Given the description of an element on the screen output the (x, y) to click on. 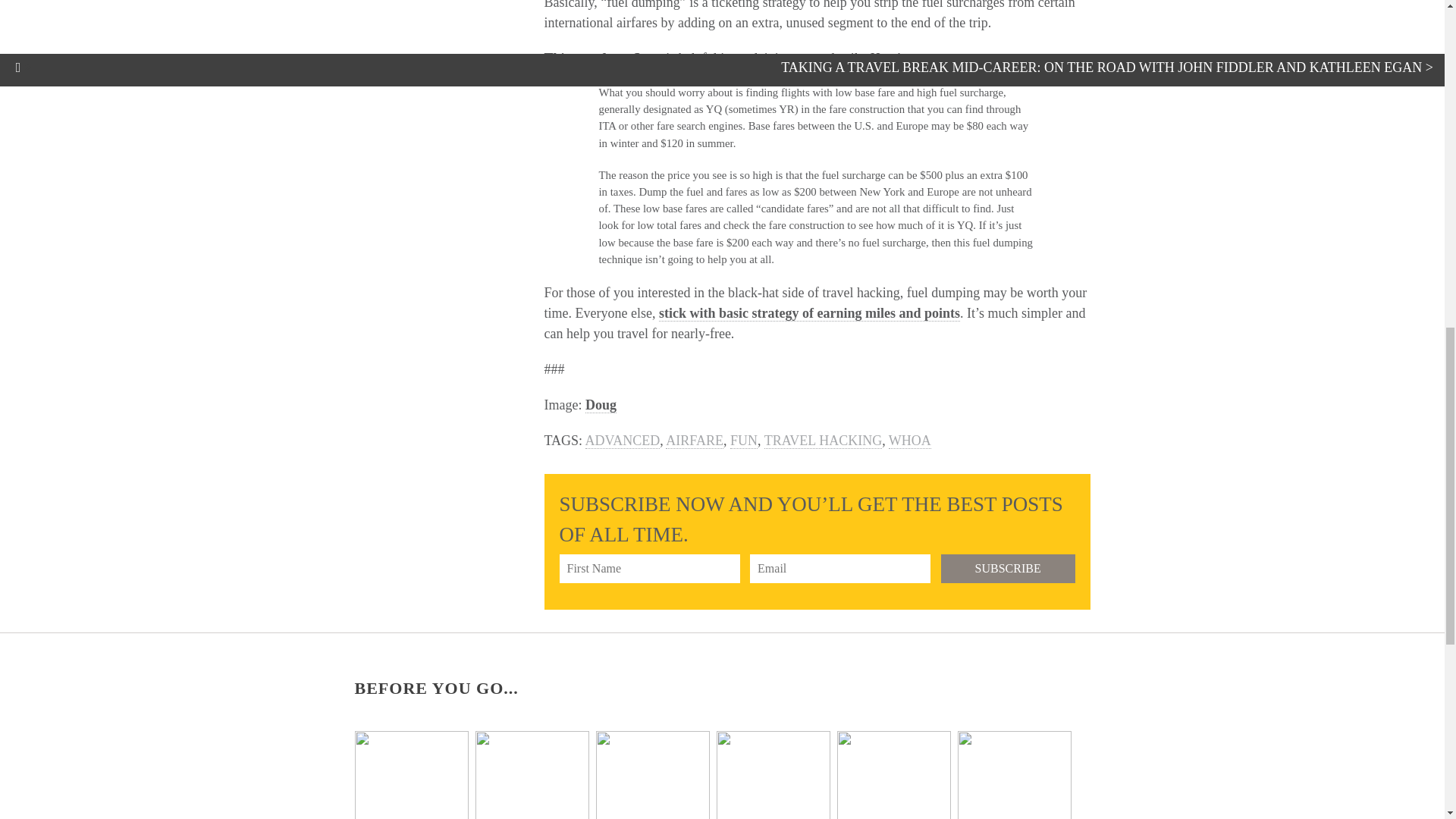
Subscribe (1007, 568)
TRAVEL HACKING (823, 440)
Subscribe (1007, 568)
WHOA (909, 440)
AIRFARE (694, 440)
This post from Scott (603, 58)
FUN (743, 440)
ADVANCED (623, 440)
stick with basic strategy of earning miles and points (809, 313)
Doug (600, 405)
